Given the description of an element on the screen output the (x, y) to click on. 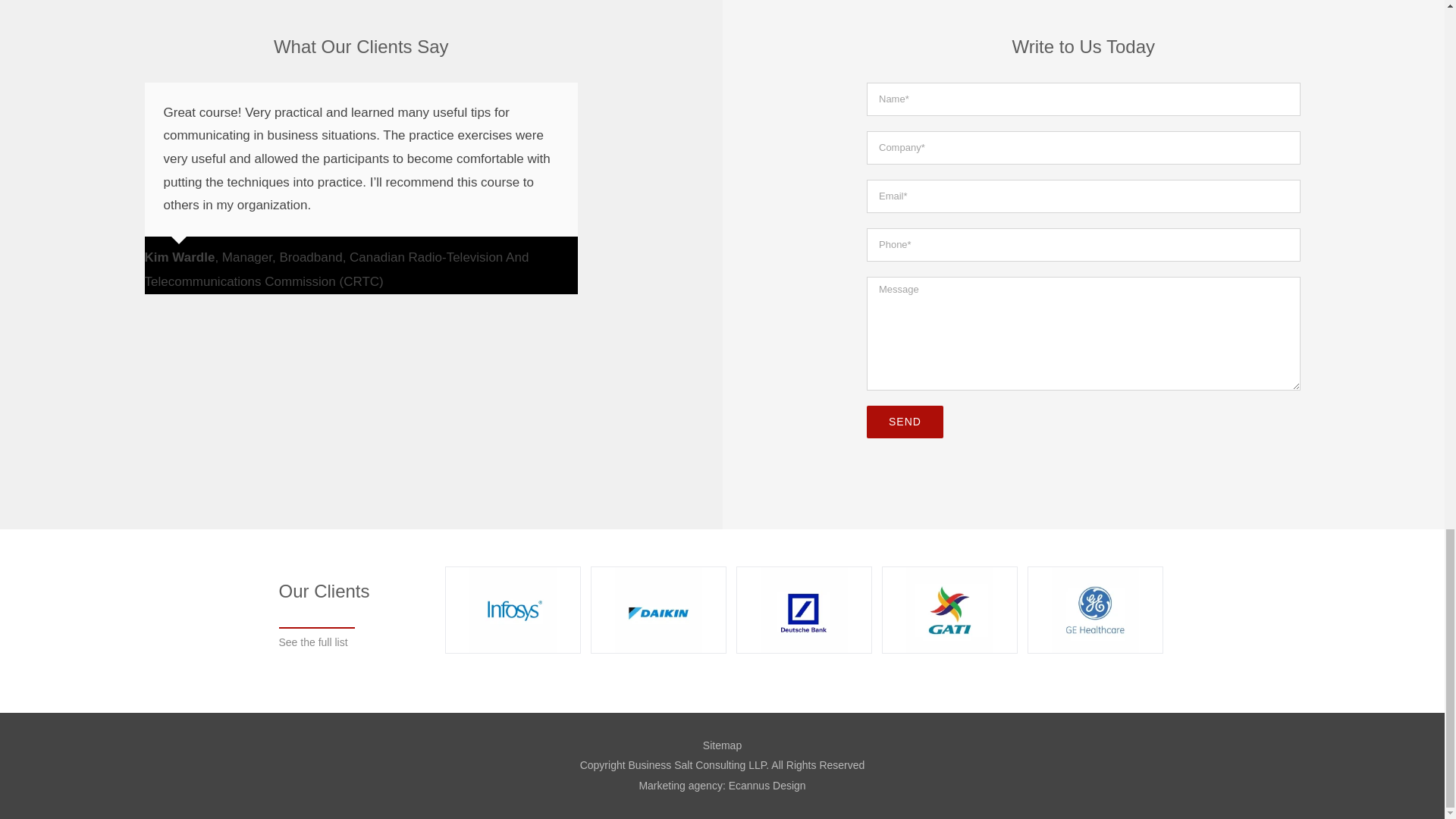
Send (904, 421)
